Given the description of an element on the screen output the (x, y) to click on. 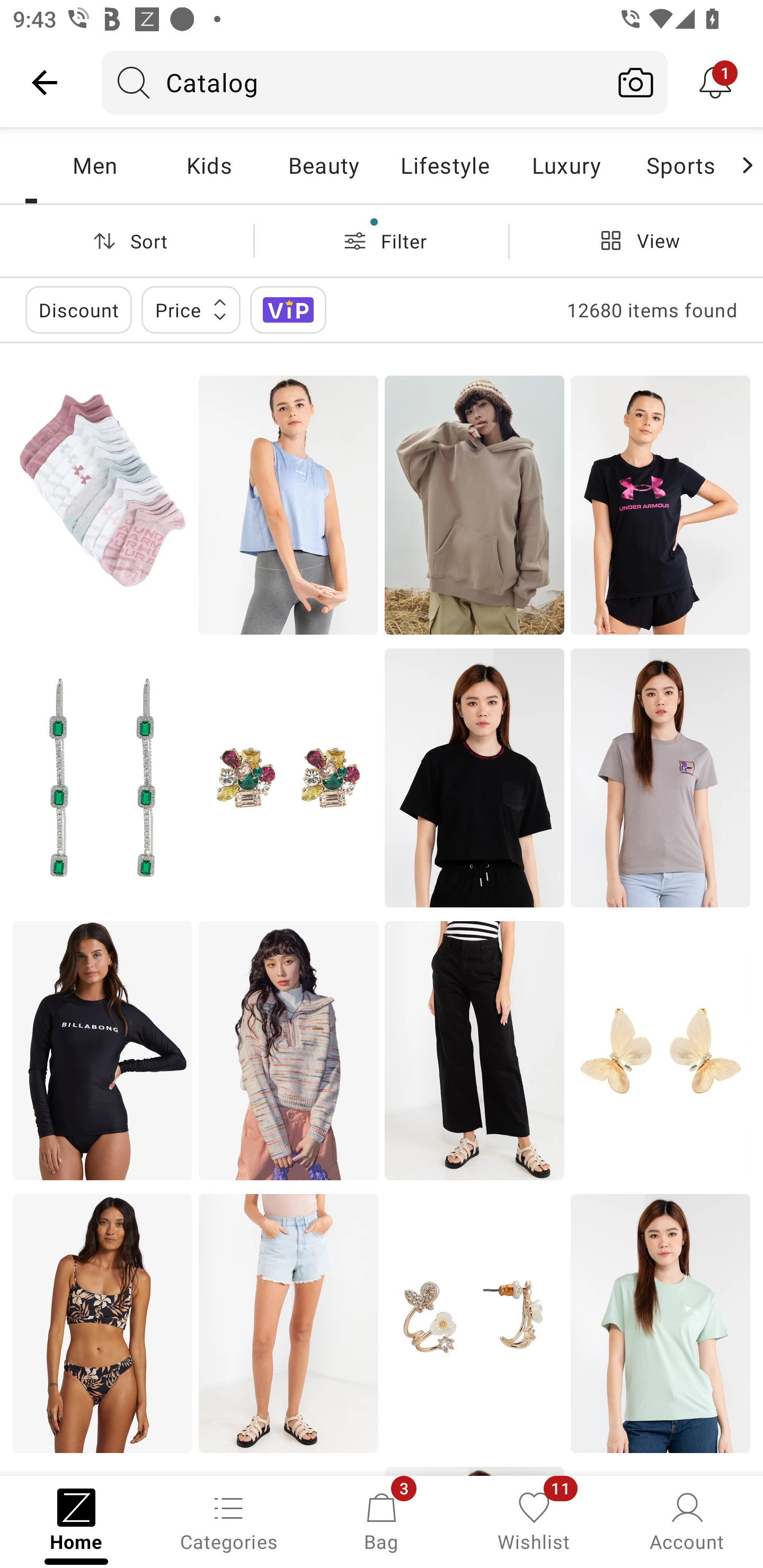
Navigate up (44, 82)
Catalog (352, 82)
Men (94, 165)
Kids (208, 165)
Beauty (323, 165)
Lifestyle (444, 165)
Luxury (565, 165)
Sports (680, 165)
Sort (126, 240)
Filter (381, 240)
View (636, 240)
Discount (78, 309)
Price (190, 309)
Categories (228, 1519)
Bag, 3 new notifications Bag (381, 1519)
Wishlist, 11 new notifications Wishlist (533, 1519)
Account (686, 1519)
